Given the description of an element on the screen output the (x, y) to click on. 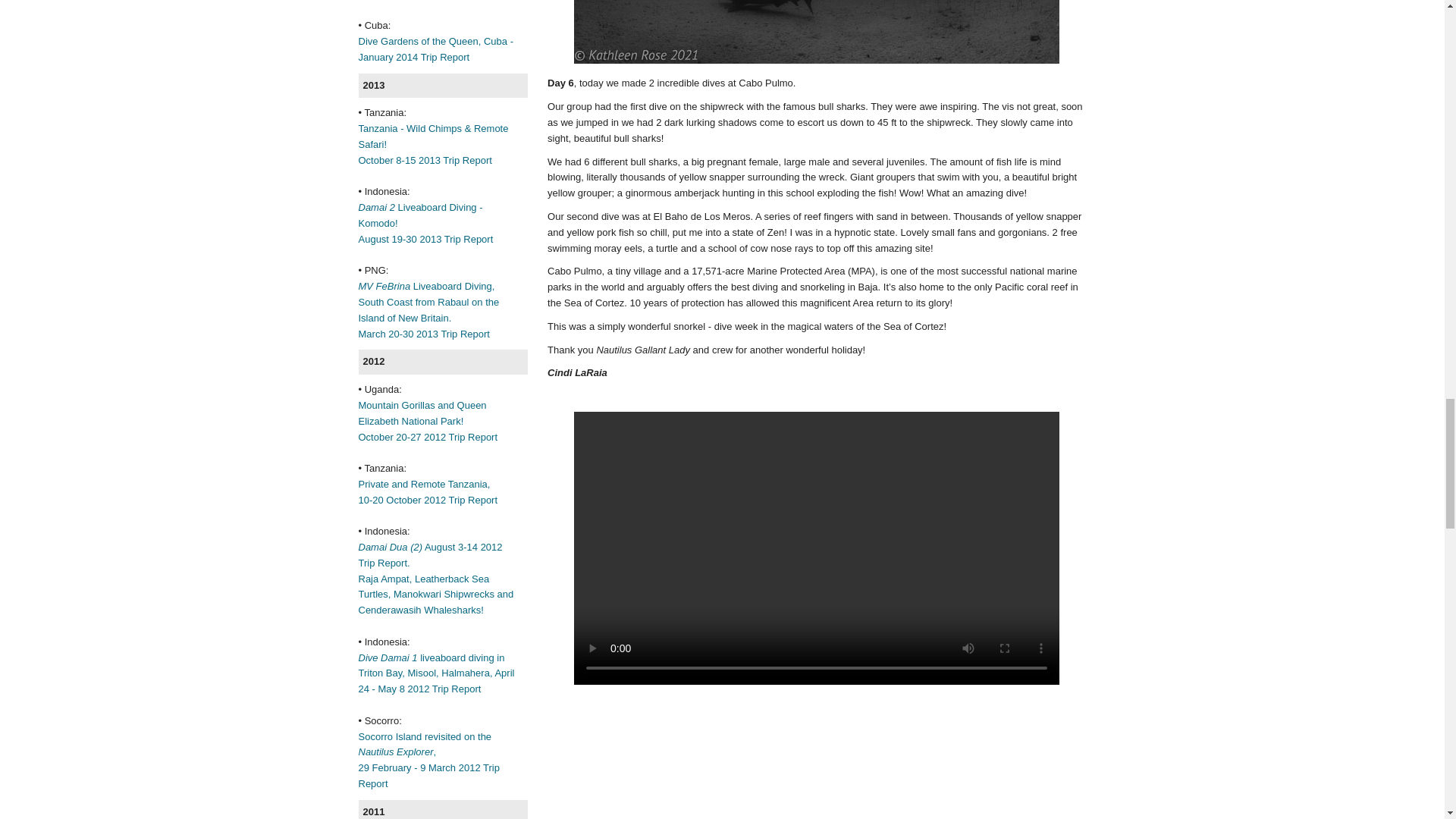
Dive Gardens of the Queen, Cuba - January 2014 Trip Report (435, 49)
